Given the description of an element on the screen output the (x, y) to click on. 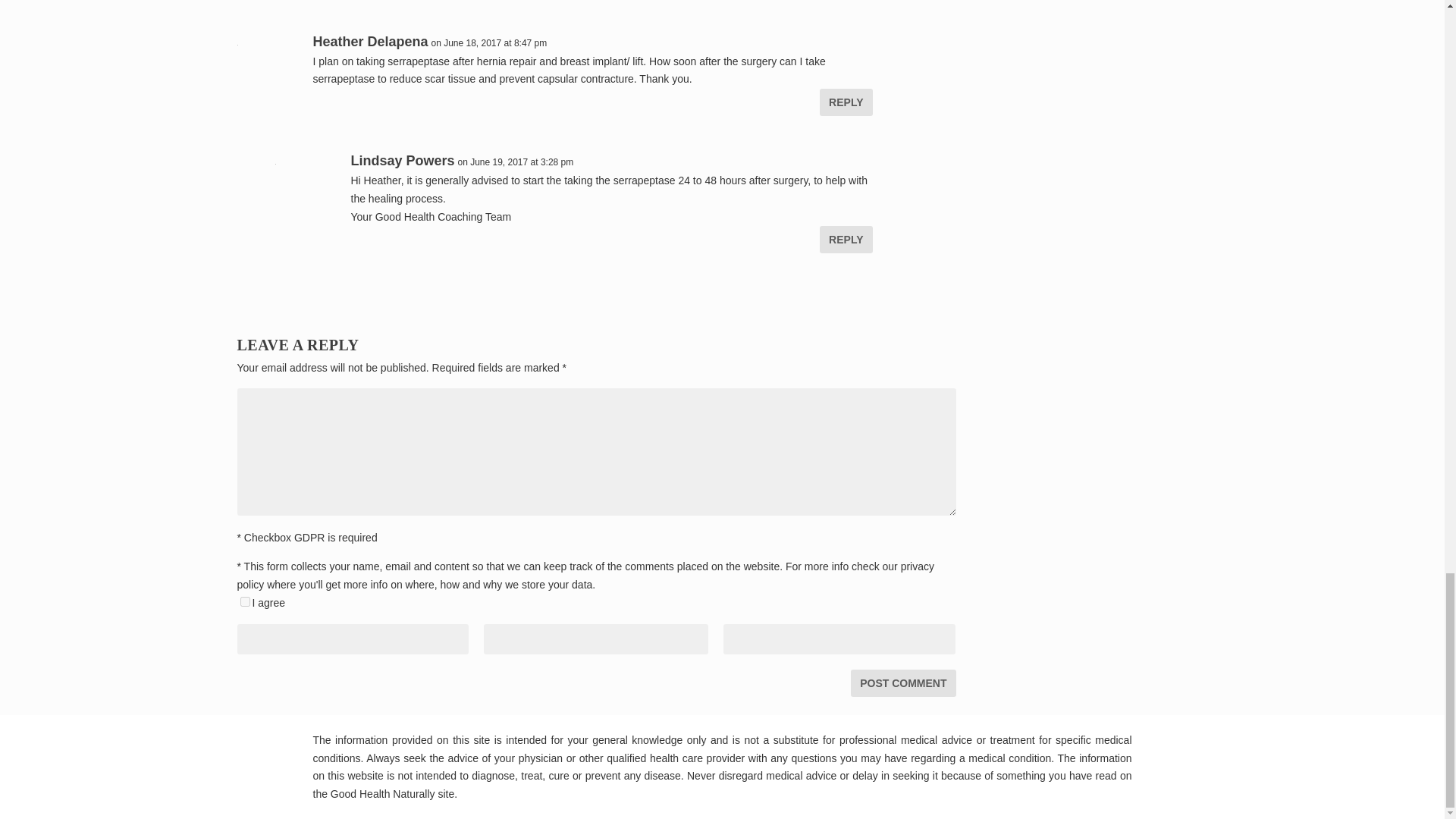
on (244, 601)
Post Comment (902, 682)
